Given the description of an element on the screen output the (x, y) to click on. 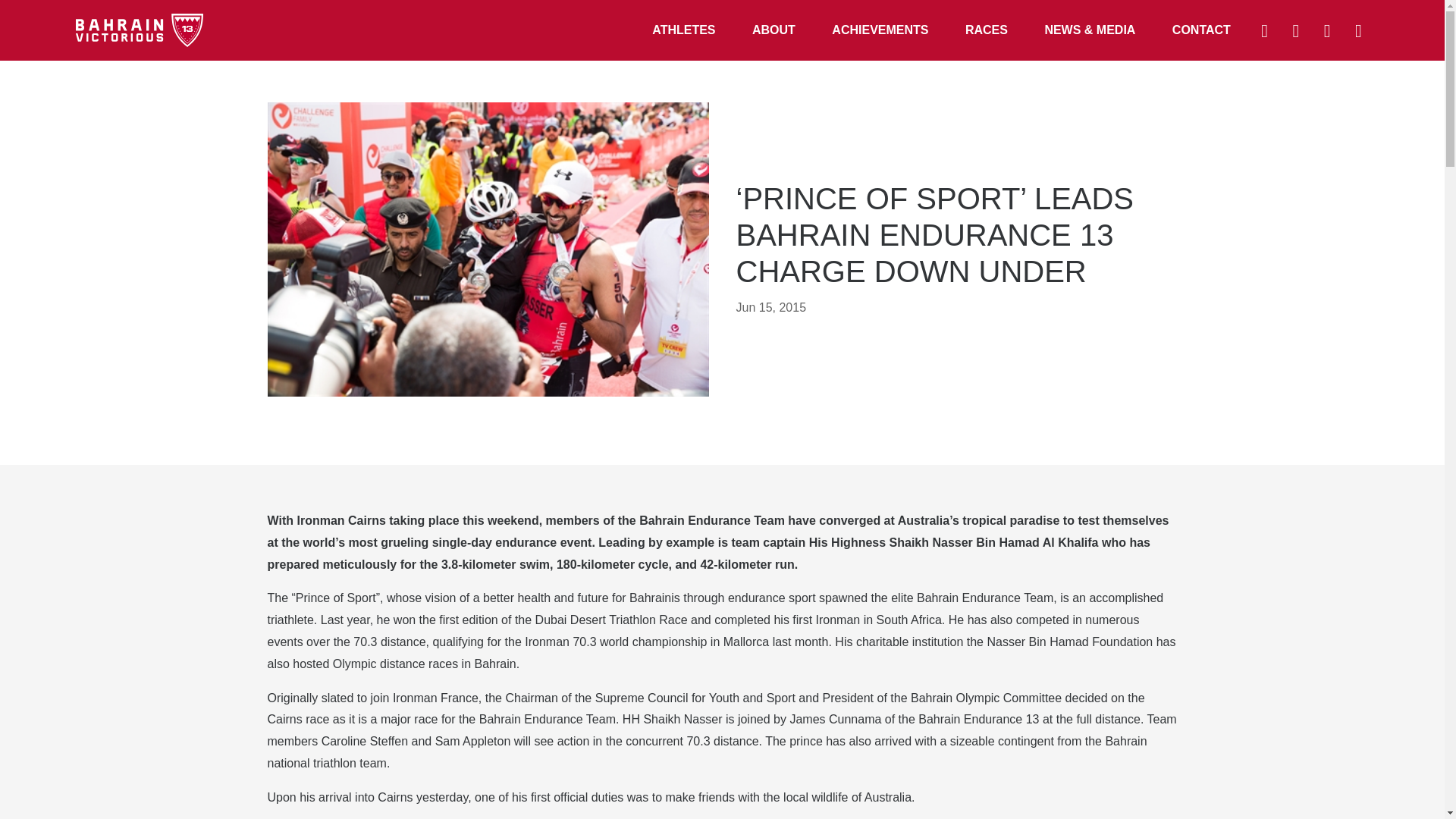
ACHIEVEMENTS (879, 30)
CONTACT (1201, 30)
ABOUT (773, 30)
RACES (987, 30)
ATHLETES (683, 30)
